Given the description of an element on the screen output the (x, y) to click on. 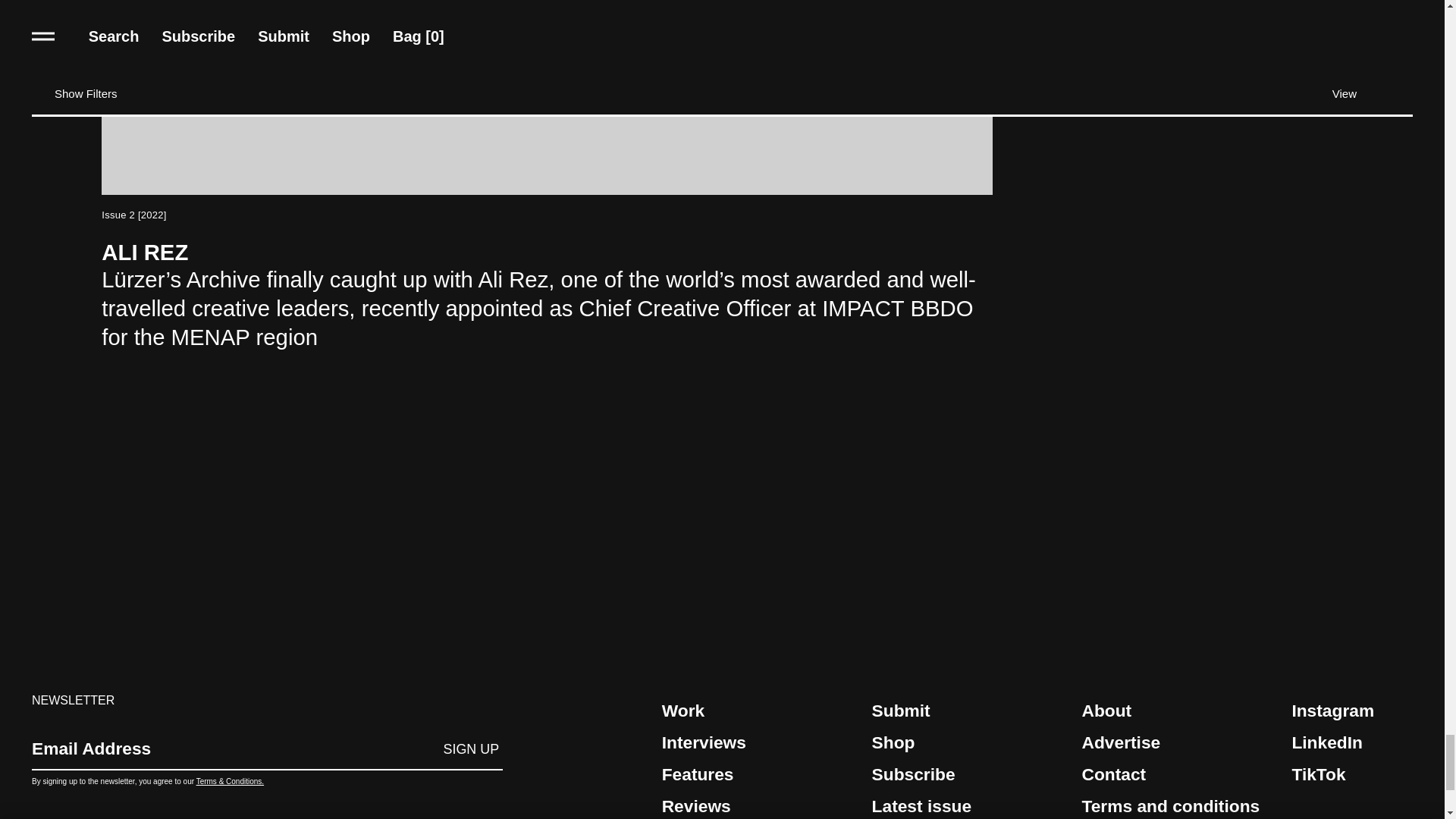
Work (757, 710)
Subscribe (967, 775)
Latest issue (967, 805)
Advertise (1176, 742)
Shop (967, 742)
LinkedIn (1351, 742)
Contact (1176, 775)
Submit (967, 710)
Instagram (1351, 710)
About (1176, 710)
Terms and conditions (1176, 805)
TikTok (1351, 775)
Features (757, 775)
Interviews (757, 742)
Reviews (757, 805)
